Given the description of an element on the screen output the (x, y) to click on. 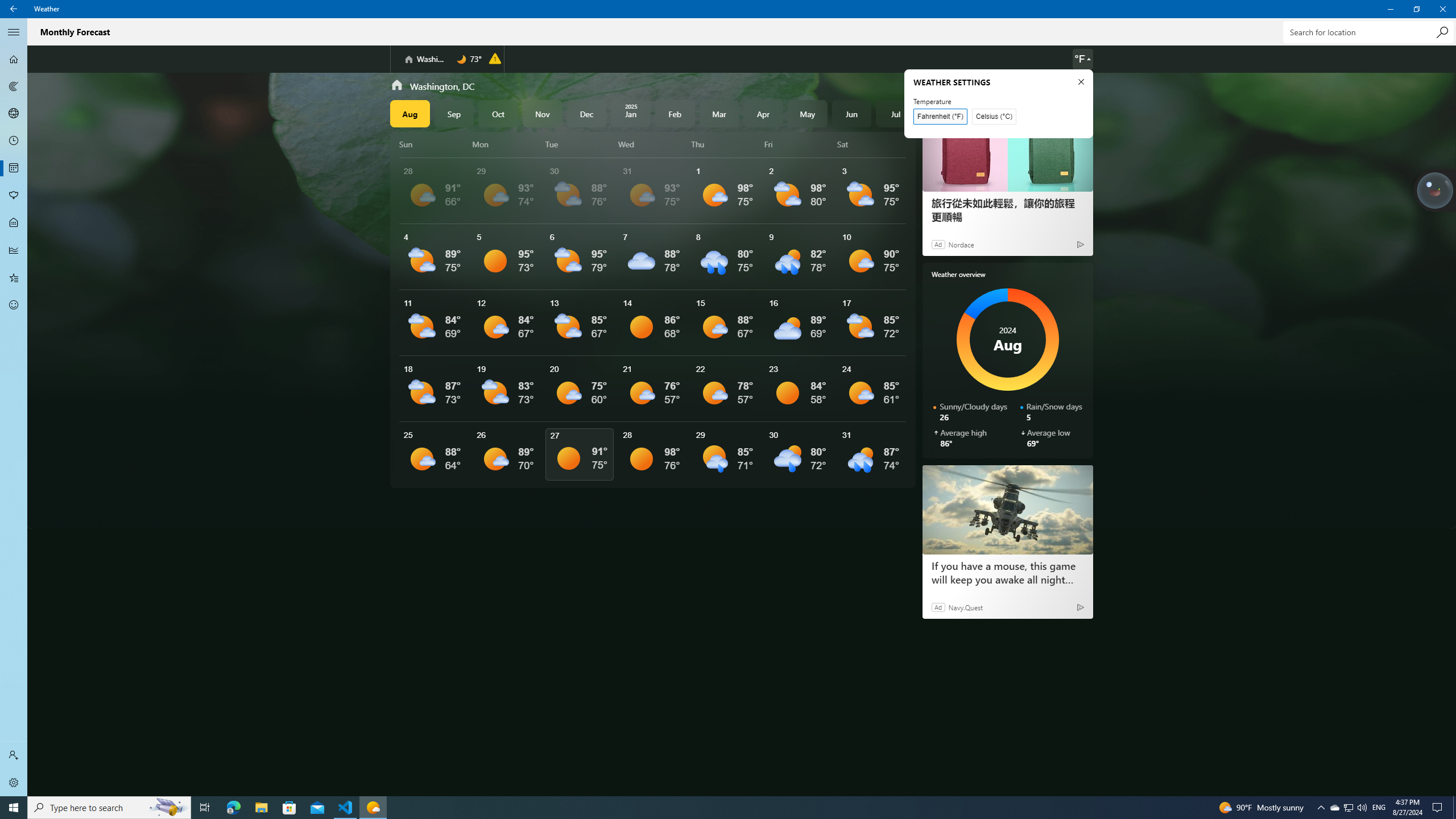
Favorites - Not Selected (13, 277)
3D Maps - Not Selected (13, 113)
Maps - Not Selected (13, 85)
Pollen - Not Selected (13, 195)
Search (1442, 31)
Life - Not Selected (13, 222)
Running applications (706, 807)
Forecast - Not Selected (13, 58)
Historical Weather - Not Selected (13, 249)
